Given the description of an element on the screen output the (x, y) to click on. 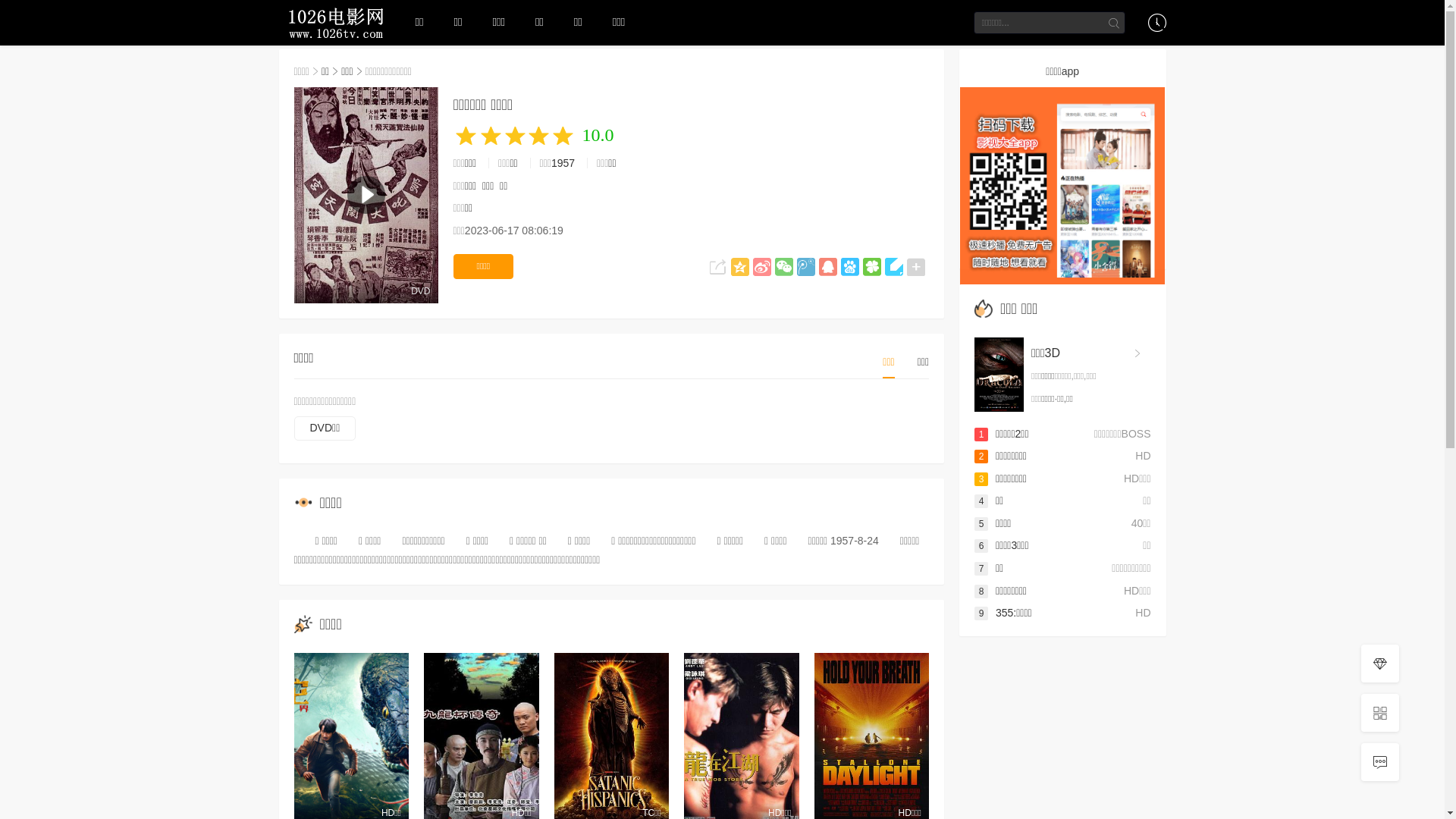
1957 Element type: text (562, 162)
DVD Element type: text (366, 195)
